Given the description of an element on the screen output the (x, y) to click on. 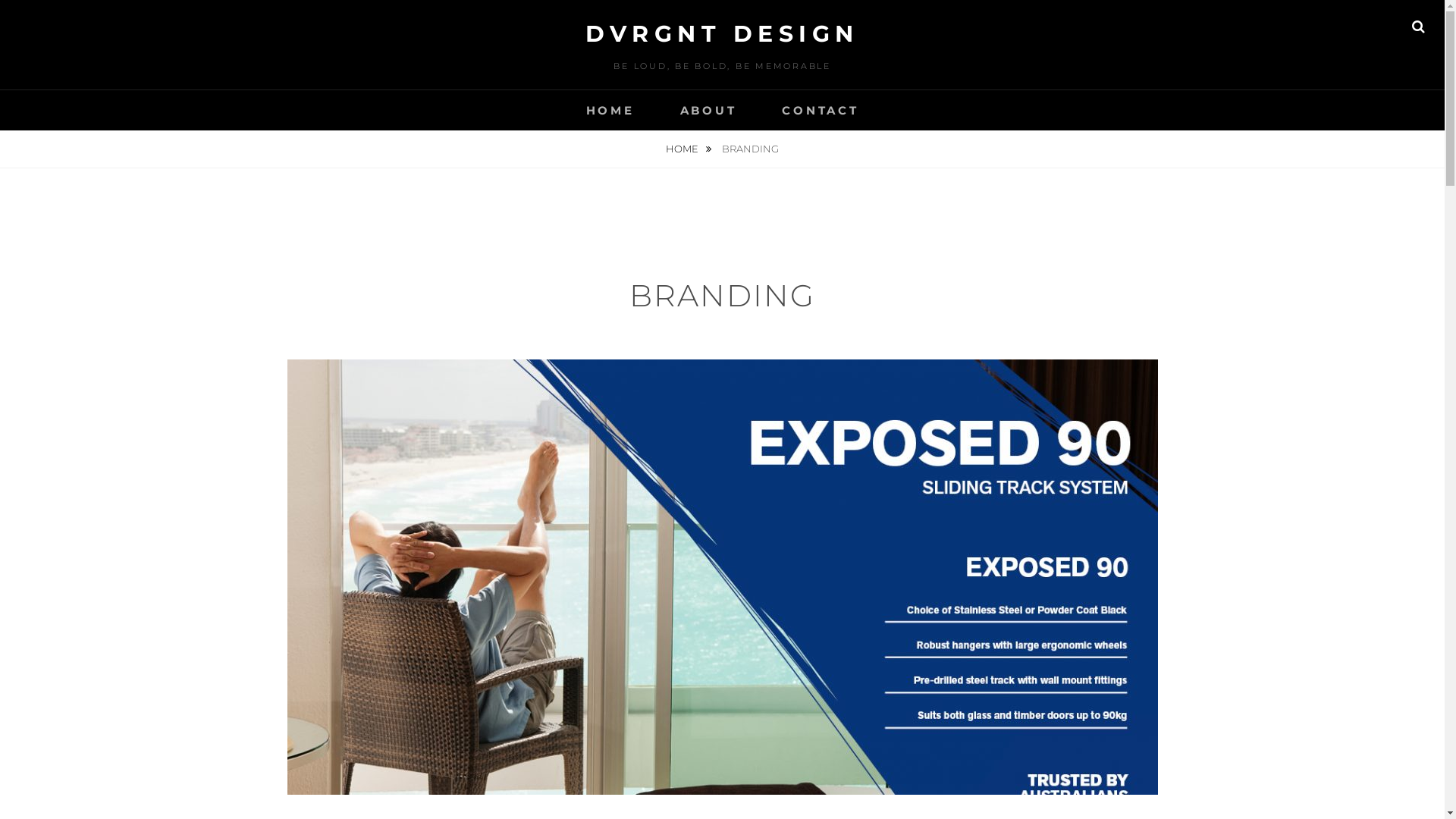
ABOUT Element type: text (707, 110)
SEARCH Element type: text (1418, 26)
CONTACT Element type: text (819, 110)
DVRGNT DESIGN Element type: text (722, 33)
HOME Element type: text (688, 148)
HOME Element type: text (609, 110)
